Given the description of an element on the screen output the (x, y) to click on. 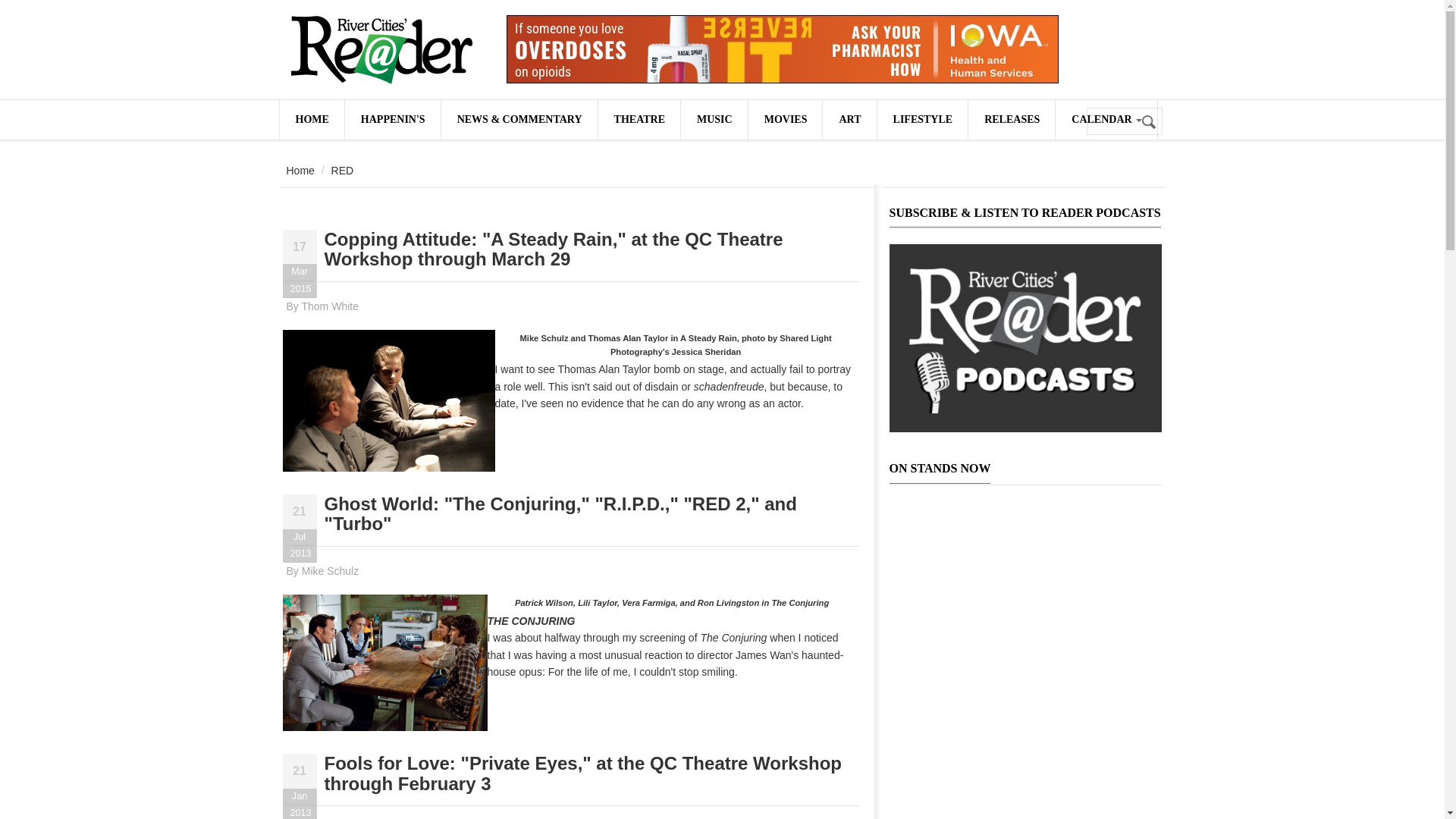
ART (849, 119)
MUSIC (714, 119)
Movies (785, 119)
Naxalone (782, 49)
Calendar (1106, 119)
HOME (311, 119)
Theatre (638, 119)
Search (1149, 122)
Home page (311, 119)
Music (714, 119)
